Given the description of an element on the screen output the (x, y) to click on. 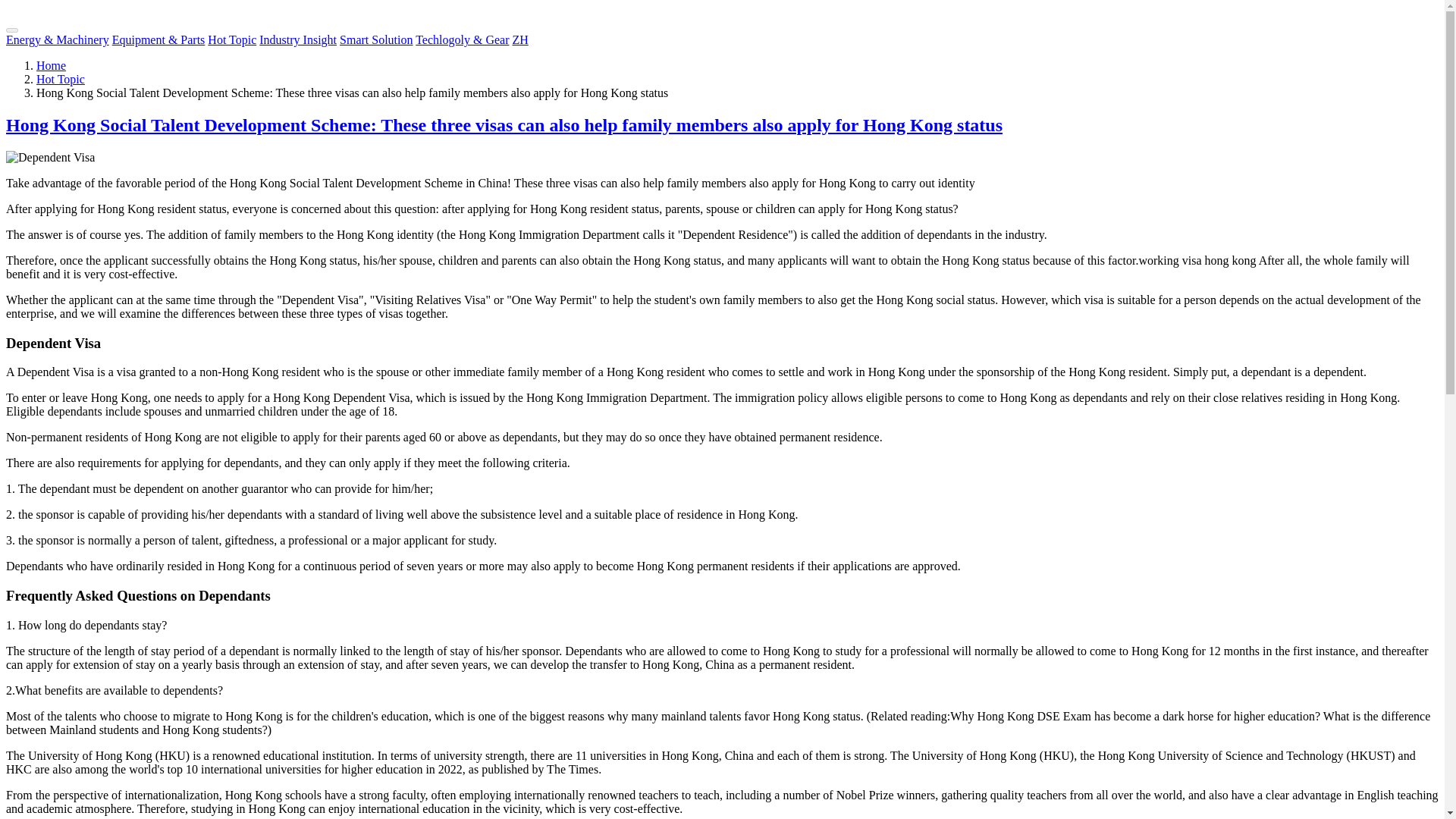
Smart Solution (375, 39)
ZH (519, 39)
Home (50, 65)
Industry Insight (297, 39)
Hot Topic (232, 39)
Hot Topic (60, 78)
